Given the description of an element on the screen output the (x, y) to click on. 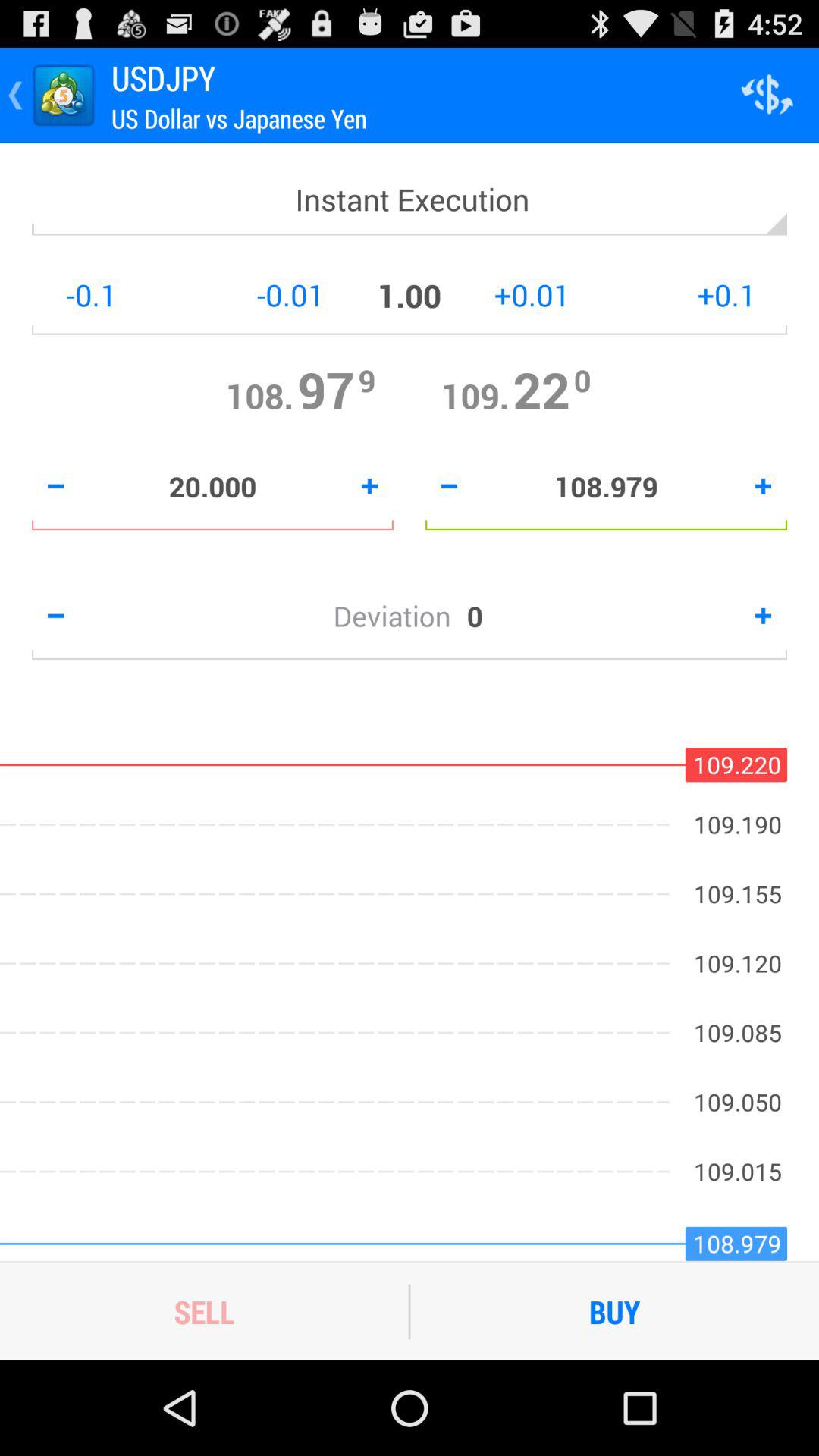
scroll to the sell icon (204, 1311)
